Given the description of an element on the screen output the (x, y) to click on. 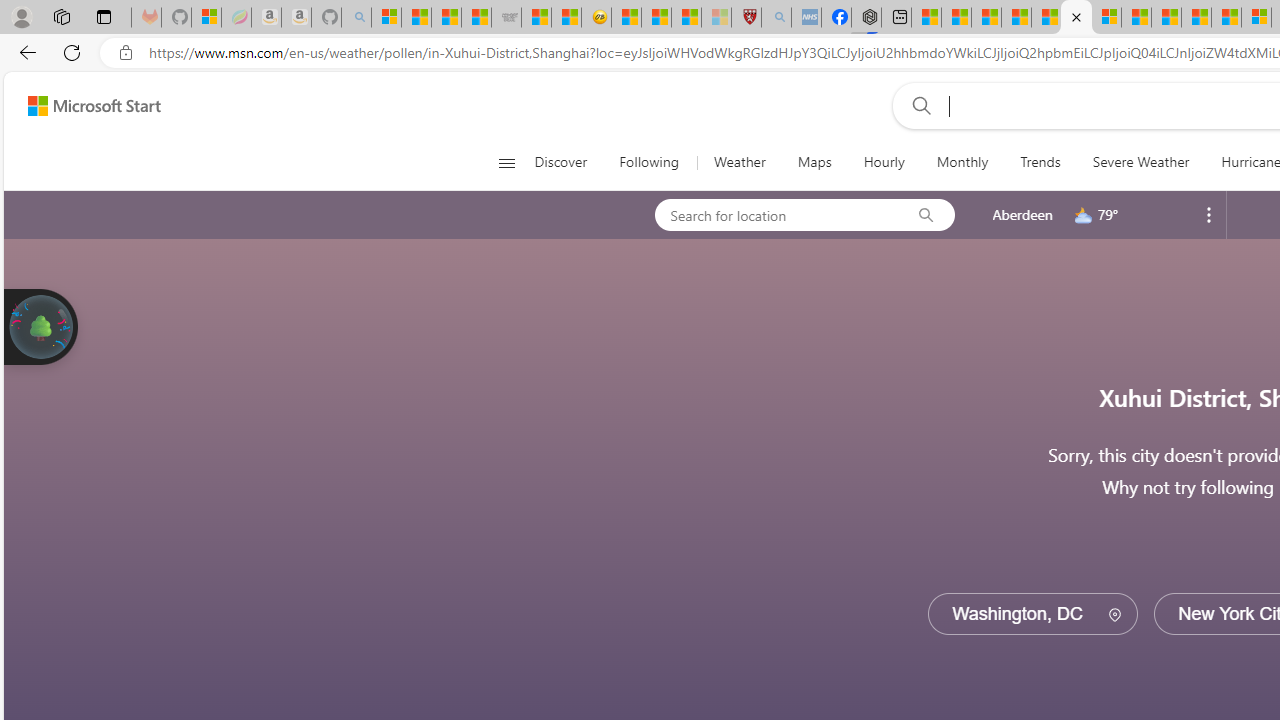
Remove location (1209, 214)
Maps (813, 162)
